Given the description of an element on the screen output the (x, y) to click on. 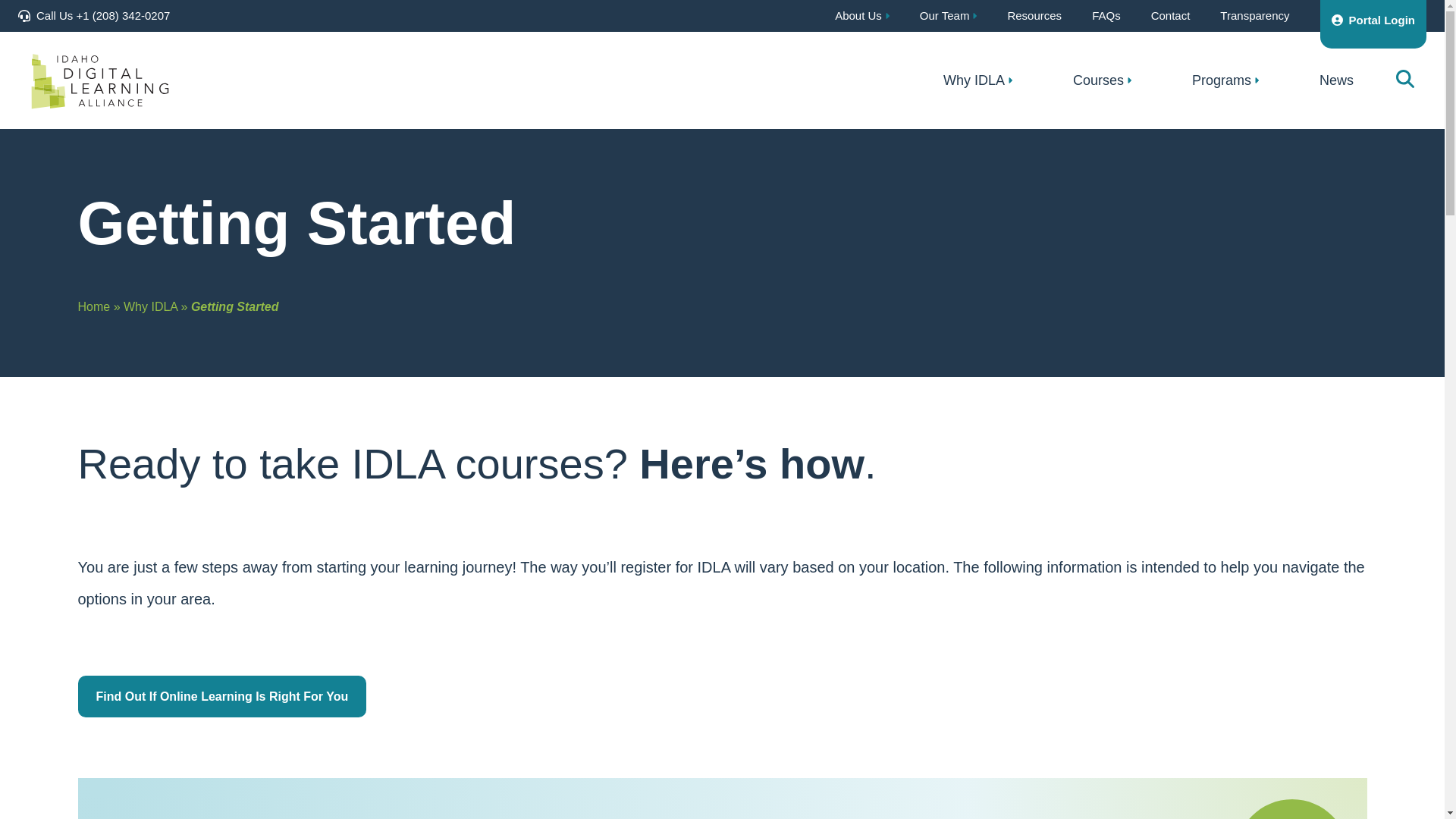
Portal Login (1372, 24)
FAQs (1106, 15)
Transparency (1254, 15)
Contact (1170, 15)
Programs (1224, 79)
Why IDLA (977, 79)
Our Team (949, 15)
Resources (1034, 15)
Courses (1102, 79)
About Us (861, 15)
